Given the description of an element on the screen output the (x, y) to click on. 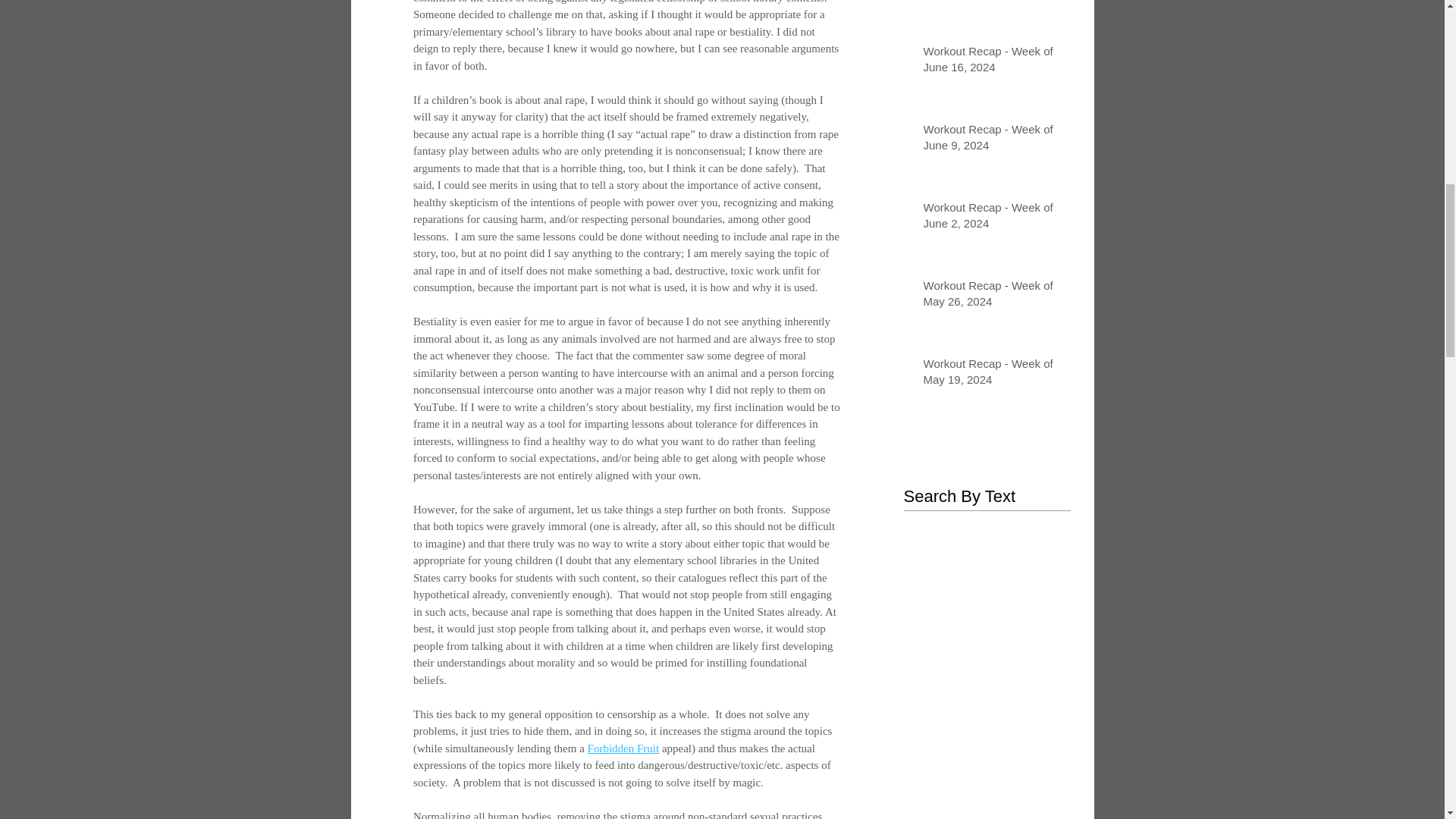
Workout Recap - Week of June 9, 2024 (992, 139)
Workout Recap - Week of June 16, 2024 (992, 62)
Workout Recap - Week of June 23, 2024 (992, 1)
Workout Recap - Week of June 2, 2024 (992, 218)
Forbidden Fruit (622, 747)
Workout Recap - Week of May 19, 2024 (992, 374)
RSS Feed (915, 470)
Workout Recap - Week of May 26, 2024 (992, 296)
